Given the description of an element on the screen output the (x, y) to click on. 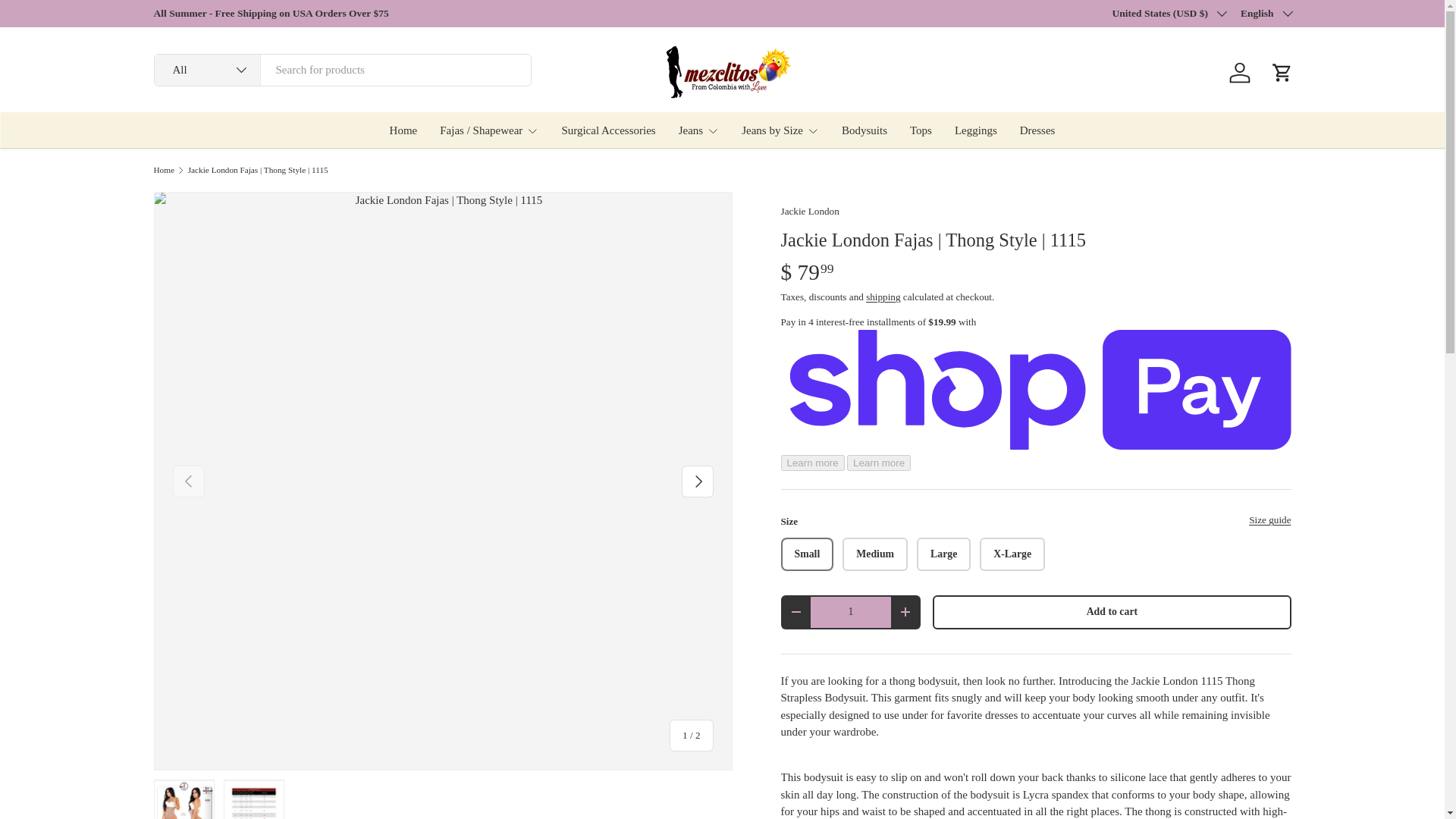
English (1265, 13)
1 (850, 612)
Log in (1239, 72)
All (207, 69)
Jeans by Size (779, 130)
Jeans (698, 130)
Surgical Accessories (607, 130)
Cart (1281, 72)
